Given the description of an element on the screen output the (x, y) to click on. 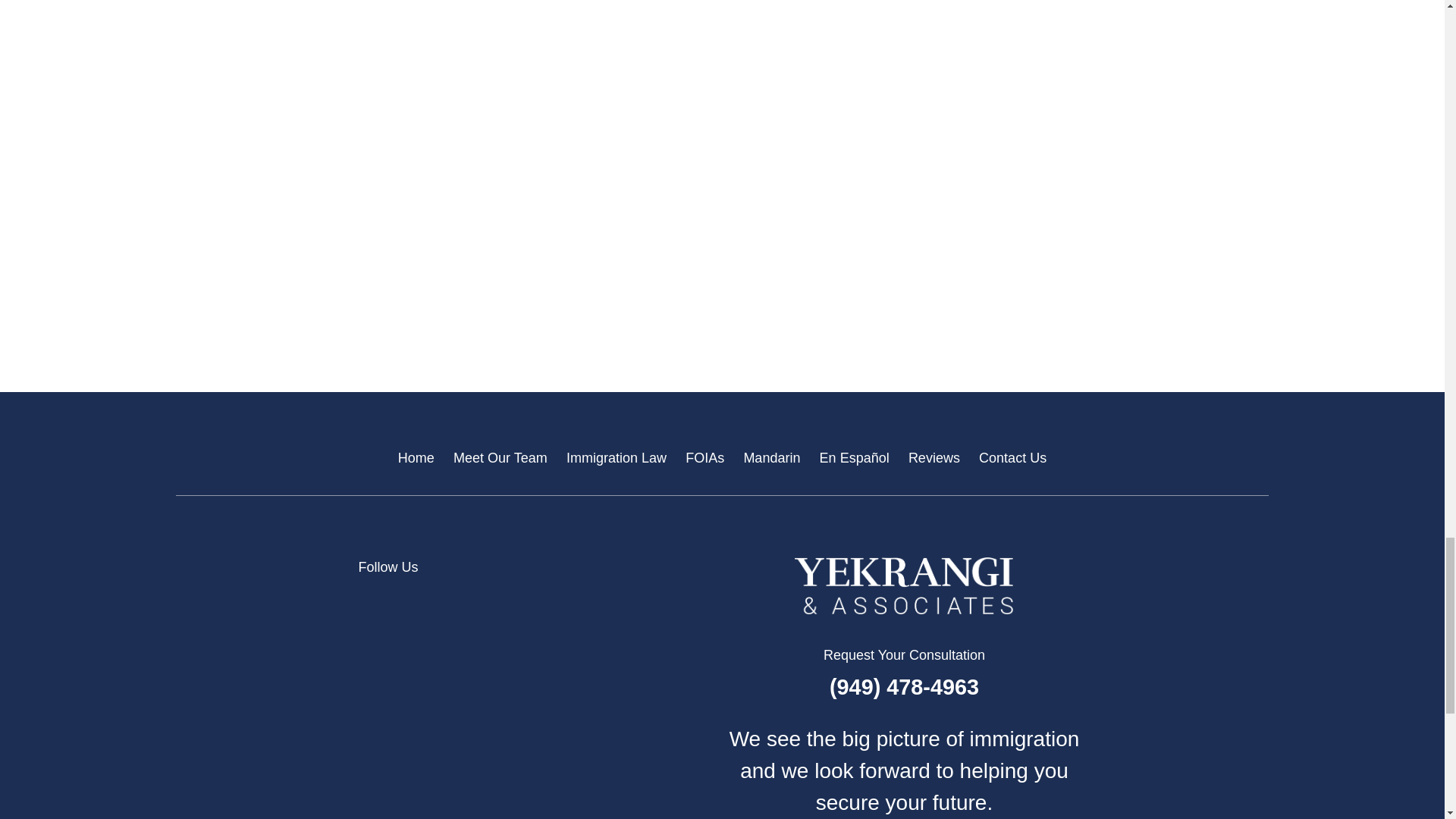
YouTube (613, 600)
Yelp (466, 600)
Facebook (514, 600)
Avvo (367, 600)
Google Business Profile (416, 600)
Instagram (563, 600)
Home (903, 586)
